Given the description of an element on the screen output the (x, y) to click on. 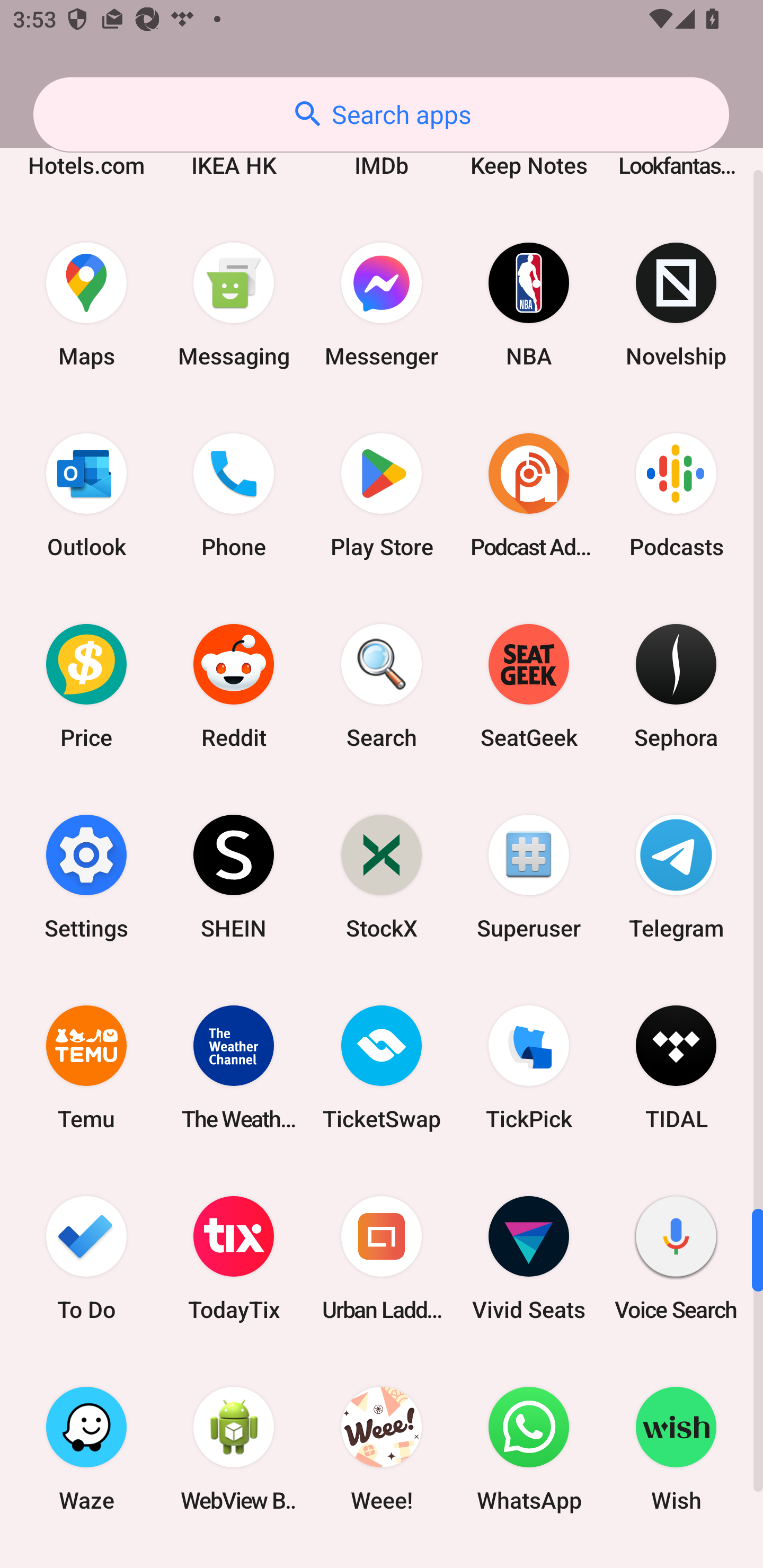
To Do (86, 1258)
